Given the description of an element on the screen output the (x, y) to click on. 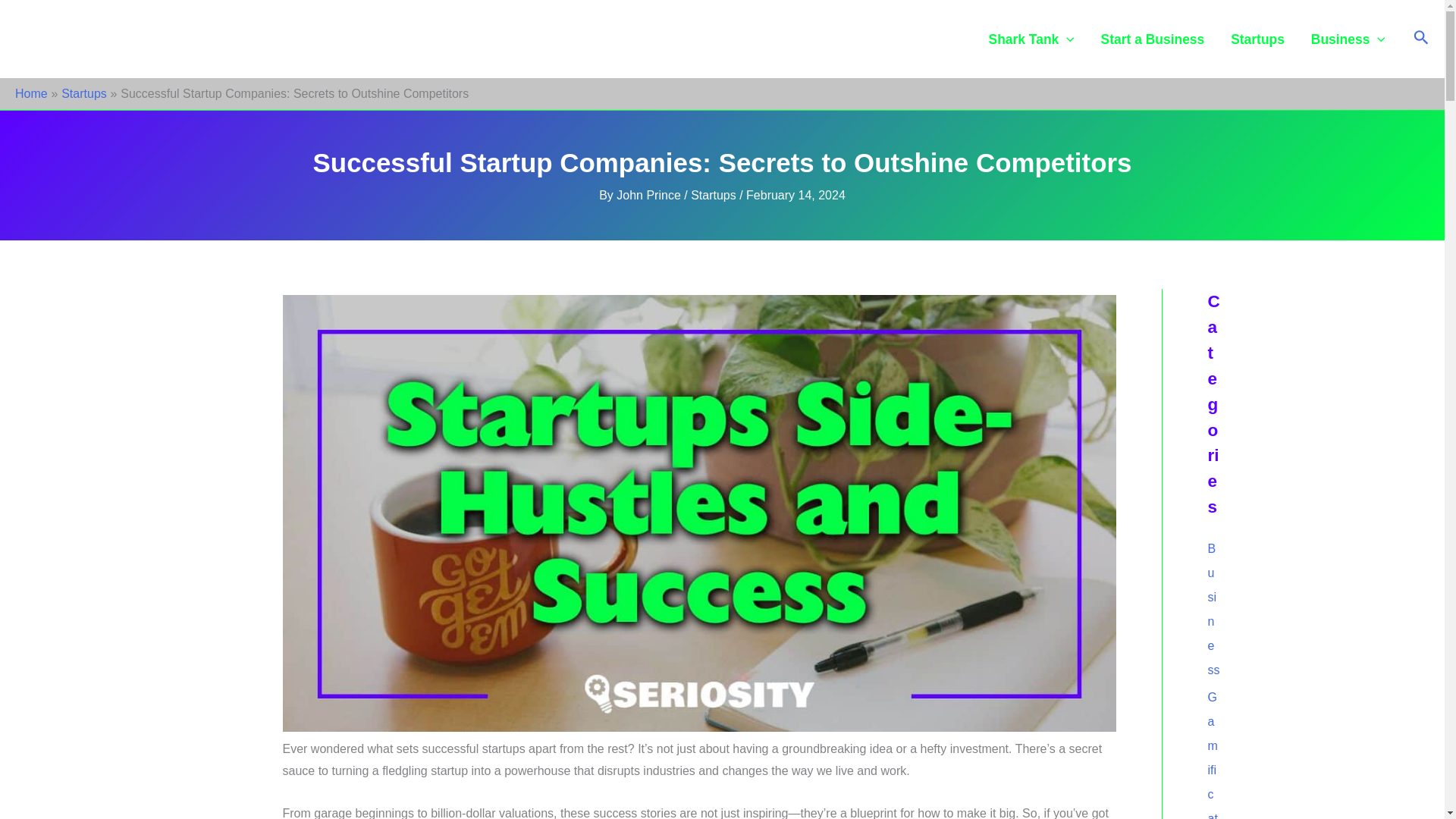
Business (1347, 38)
Startups (1257, 38)
Shark Tank (1031, 38)
Startups (83, 92)
Startups (713, 195)
Home (31, 92)
View all posts by John Prince (649, 195)
John Prince (649, 195)
Start a Business (1152, 38)
